Given the description of an element on the screen output the (x, y) to click on. 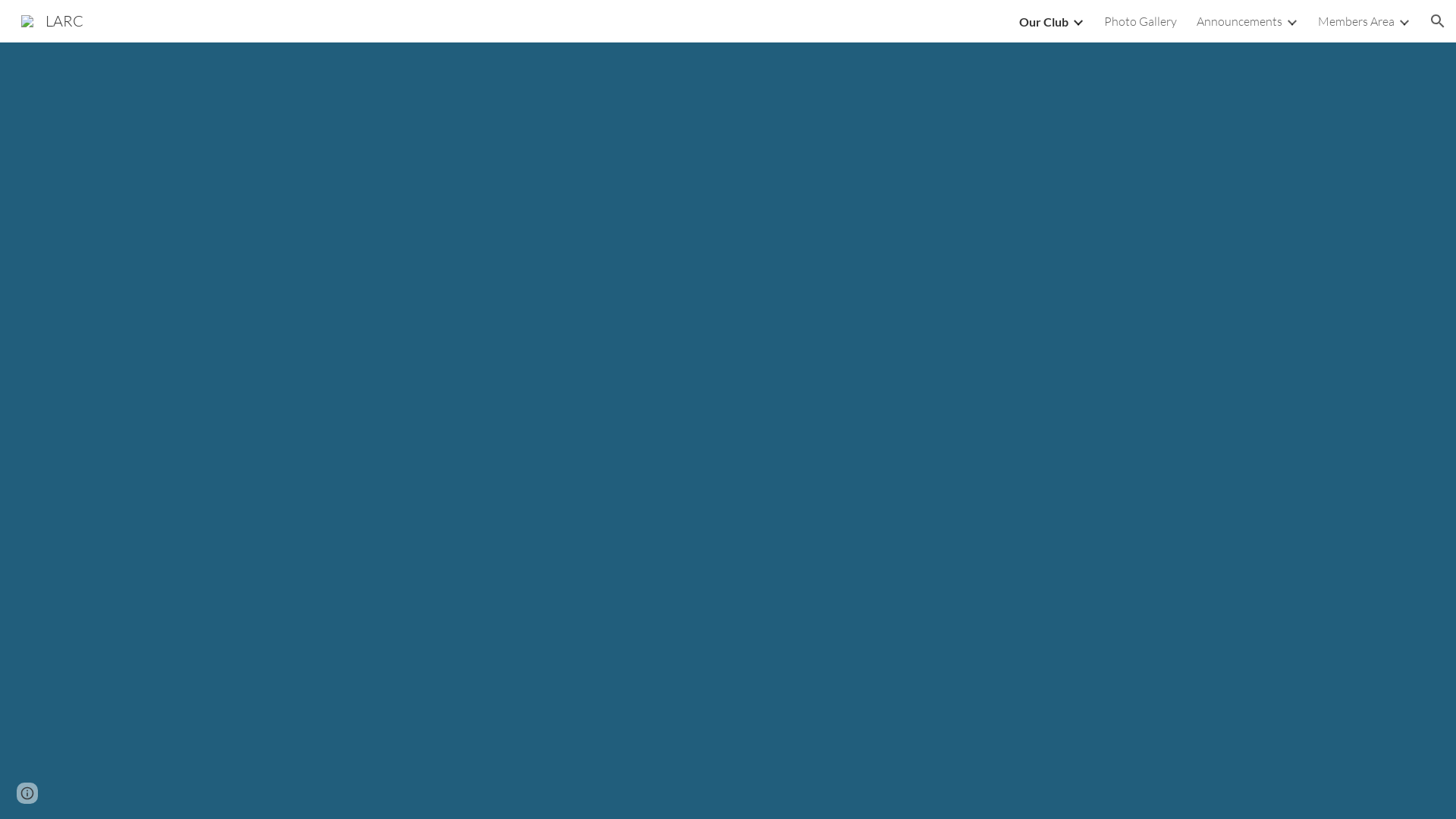
Members Area Element type: text (1355, 20)
LARC Element type: text (52, 18)
Our Club Element type: text (1043, 20)
Announcements Element type: text (1239, 20)
Expand/Collapse Element type: hover (1291, 20)
Expand/Collapse Element type: hover (1403, 20)
Photo Gallery Element type: text (1140, 20)
Expand/Collapse Element type: hover (1077, 20)
